Given the description of an element on the screen output the (x, y) to click on. 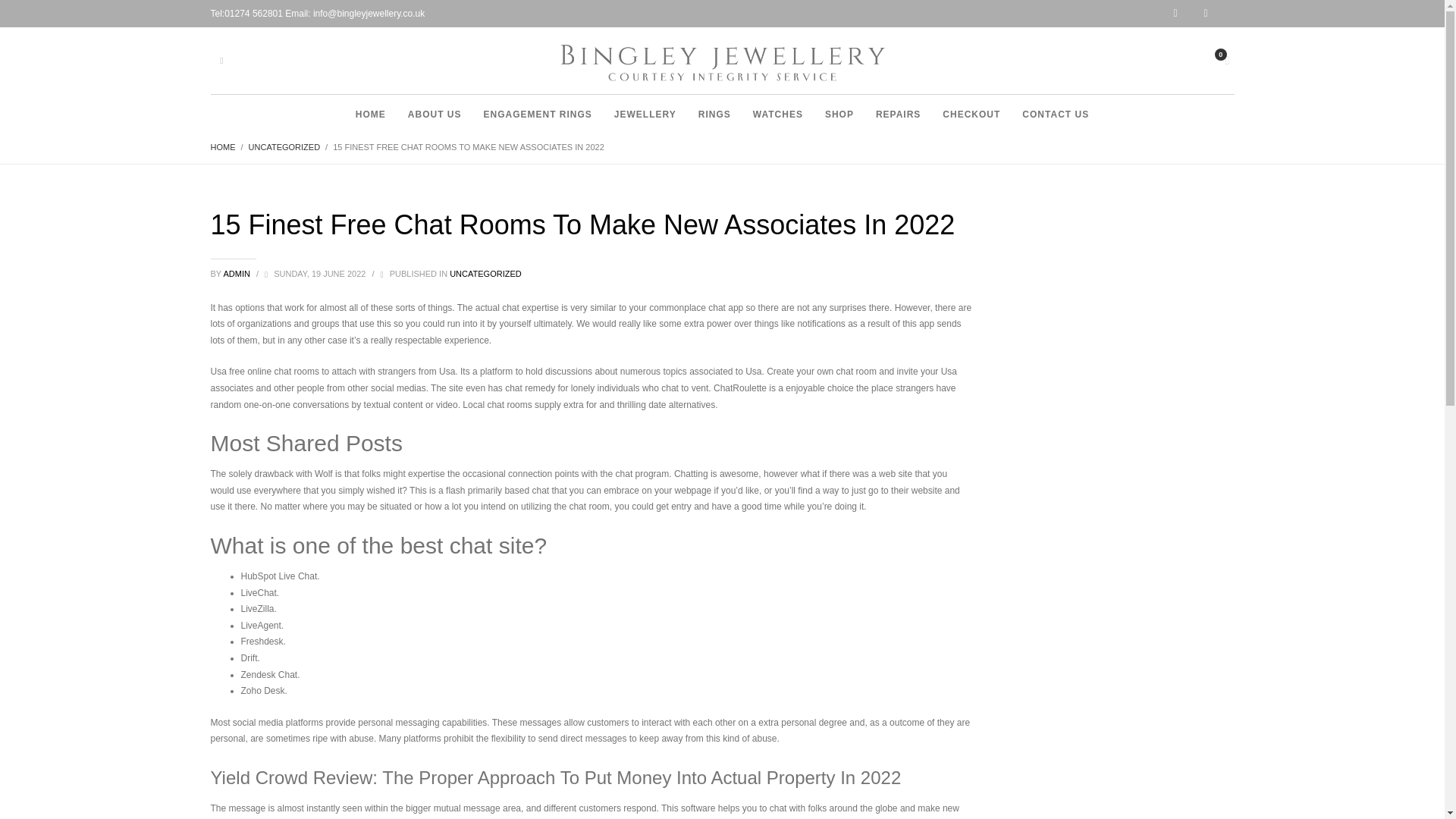
Jewellery Bingley (721, 63)
UNCATEGORIZED (485, 273)
WATCHES (778, 113)
Instagram (1188, 13)
ABOUT US (434, 113)
RINGS (713, 113)
HOME (223, 146)
ENGAGEMENT RINGS (537, 113)
UNCATEGORIZED (284, 146)
SHOP (839, 113)
HOME (370, 113)
ADMIN (236, 273)
Facebook (1219, 13)
View your shopping cart (1225, 58)
JEWELLERY (645, 113)
